Given the description of an element on the screen output the (x, y) to click on. 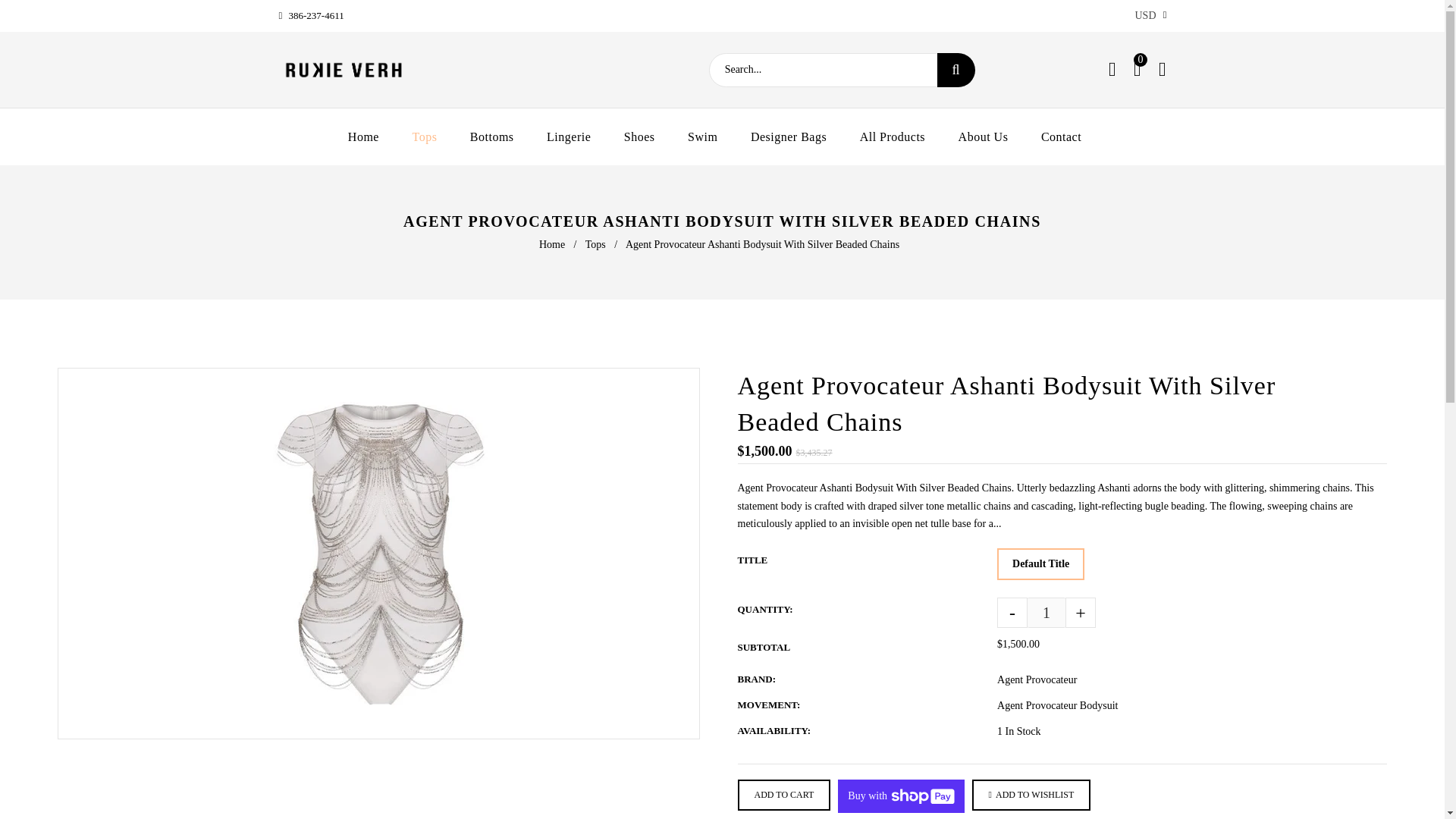
Home (552, 244)
Swim (702, 136)
Back to the frontpage (552, 244)
Lingerie (568, 136)
ADD TO CART (782, 794)
0 (1137, 69)
All Products (892, 136)
Designer Bags (788, 136)
Home (370, 136)
Wishlist (1112, 69)
Bottoms (491, 136)
ADD TO WISHLIST (1031, 794)
About Us (983, 136)
Tops (596, 244)
Contact (1061, 136)
